Given the description of an element on the screen output the (x, y) to click on. 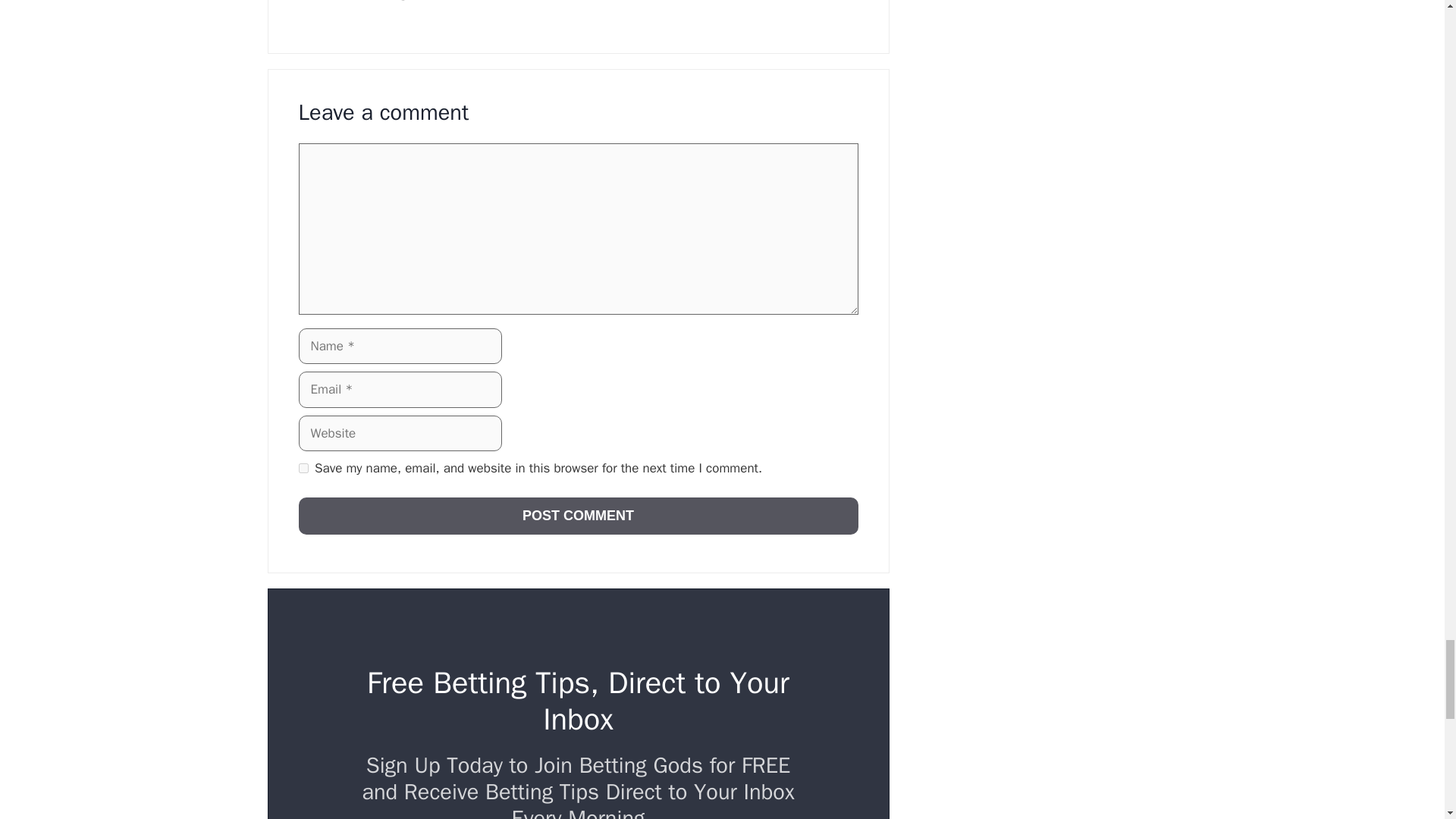
Post Comment (578, 515)
Post Comment (578, 515)
yes (303, 468)
